Given the description of an element on the screen output the (x, y) to click on. 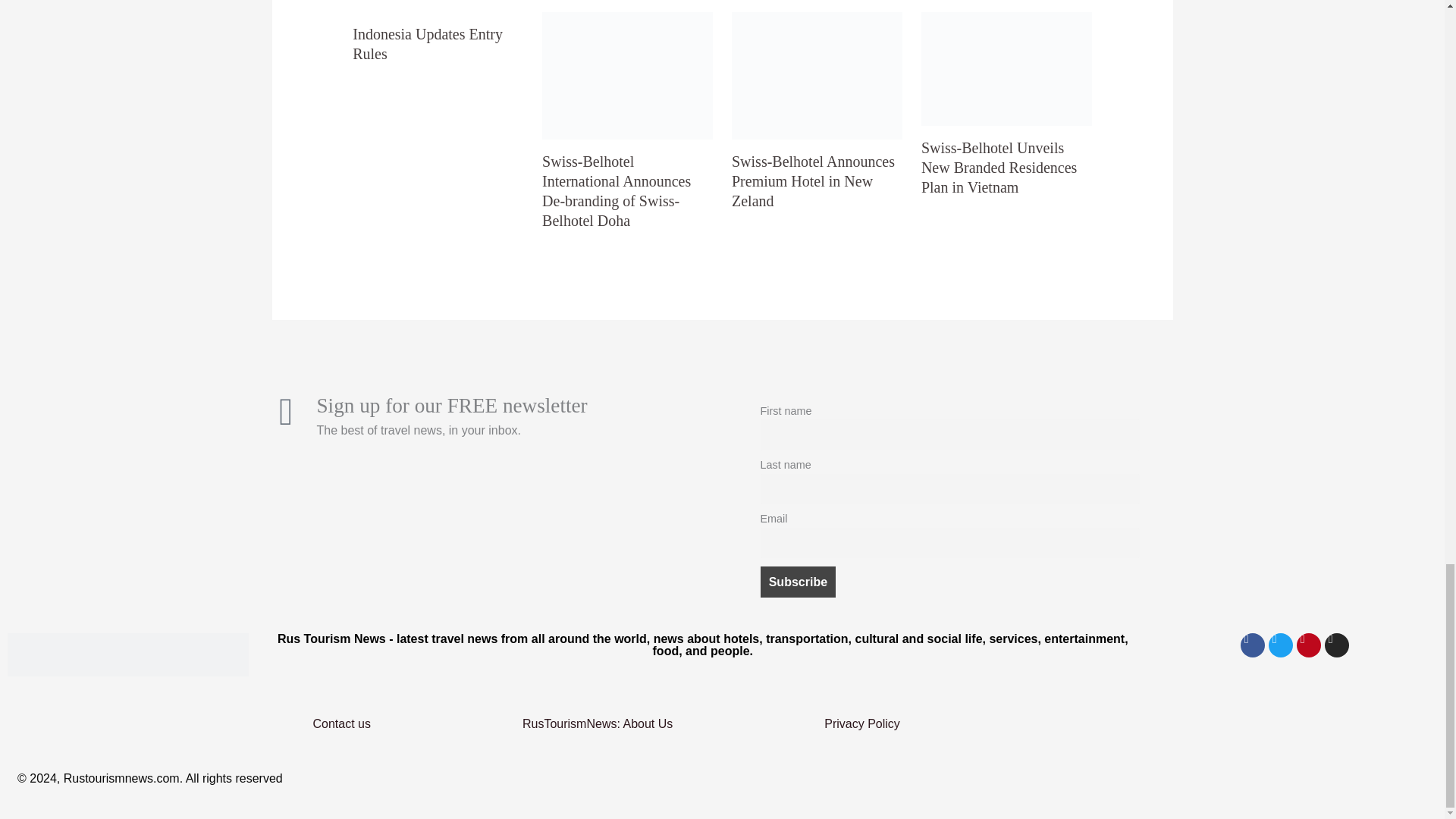
Subscribe (797, 581)
Swiss-Belhotel Announces Premium Hotel in New Zeland 8 (817, 76)
